Given the description of an element on the screen output the (x, y) to click on. 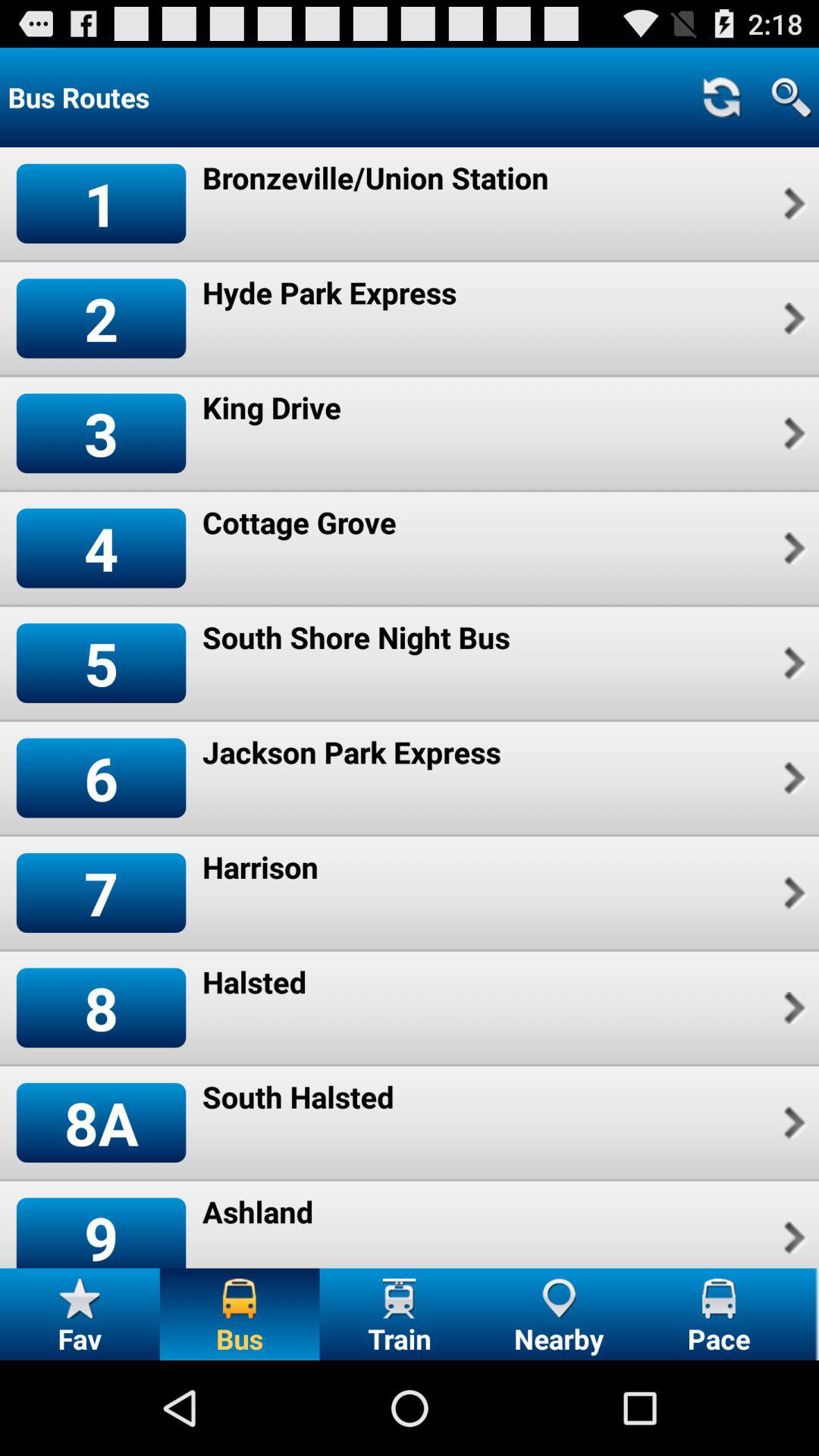
scroll until the south shore night (356, 637)
